Given the description of an element on the screen output the (x, y) to click on. 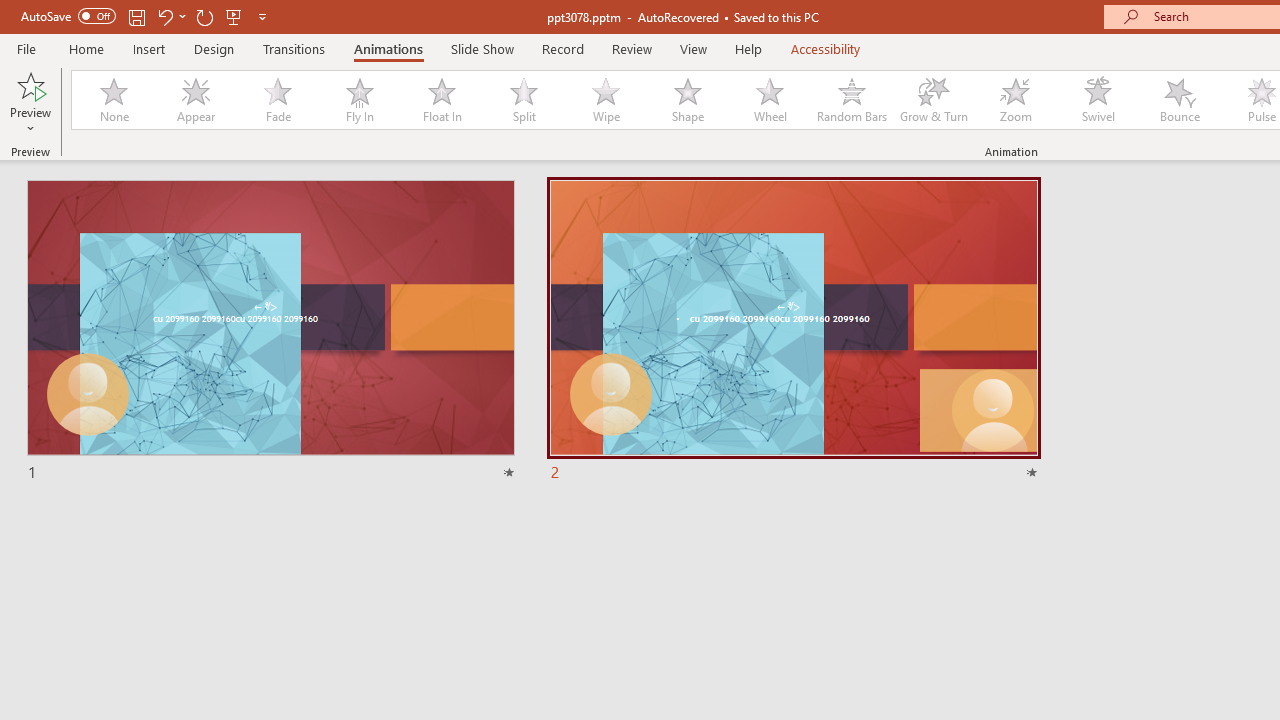
Swivel (1098, 100)
Appear (195, 100)
